Given the description of an element on the screen output the (x, y) to click on. 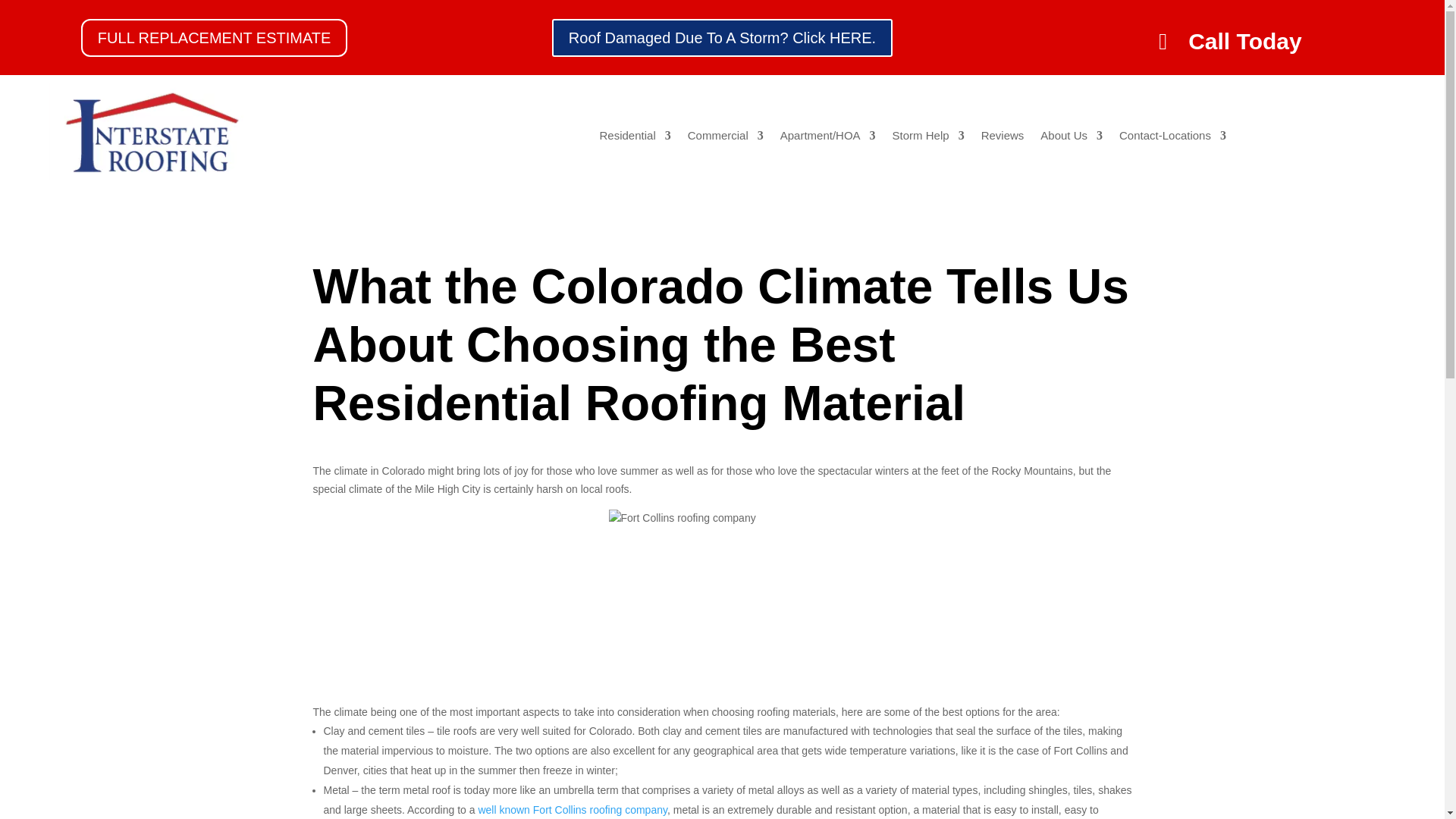
Roof Damaged Due To A Storm? Click HERE. (721, 37)
Residential (633, 138)
Call Today (1229, 41)
Storm Help (927, 138)
Reviews (1003, 138)
Commercial (724, 138)
Contact-Locations (1172, 138)
About Us (1071, 138)
FULL REPLACEMENT ESTIMATE (214, 37)
interstate-logo (150, 135)
